Given the description of an element on the screen output the (x, y) to click on. 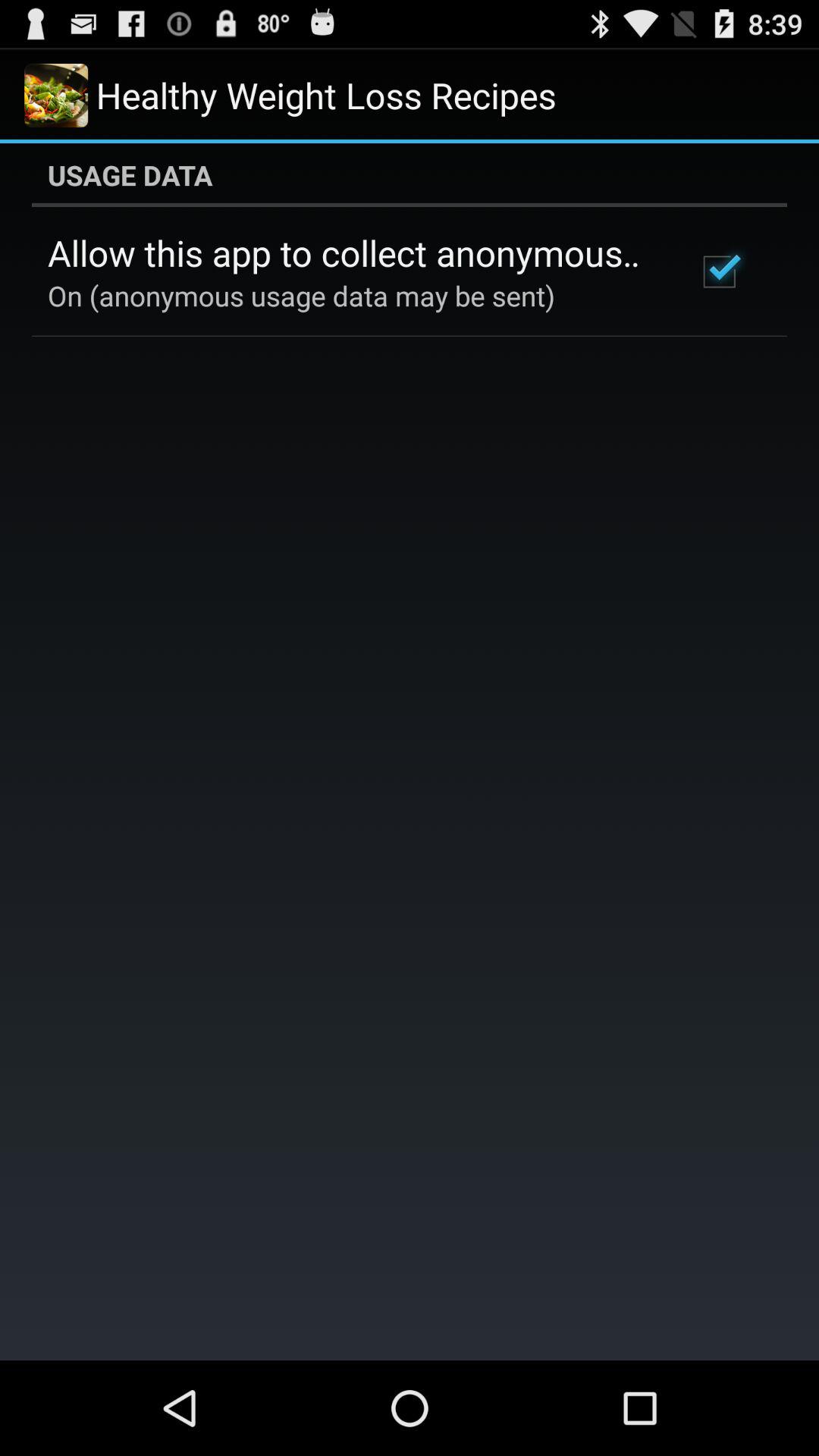
open item at the top right corner (719, 271)
